Given the description of an element on the screen output the (x, y) to click on. 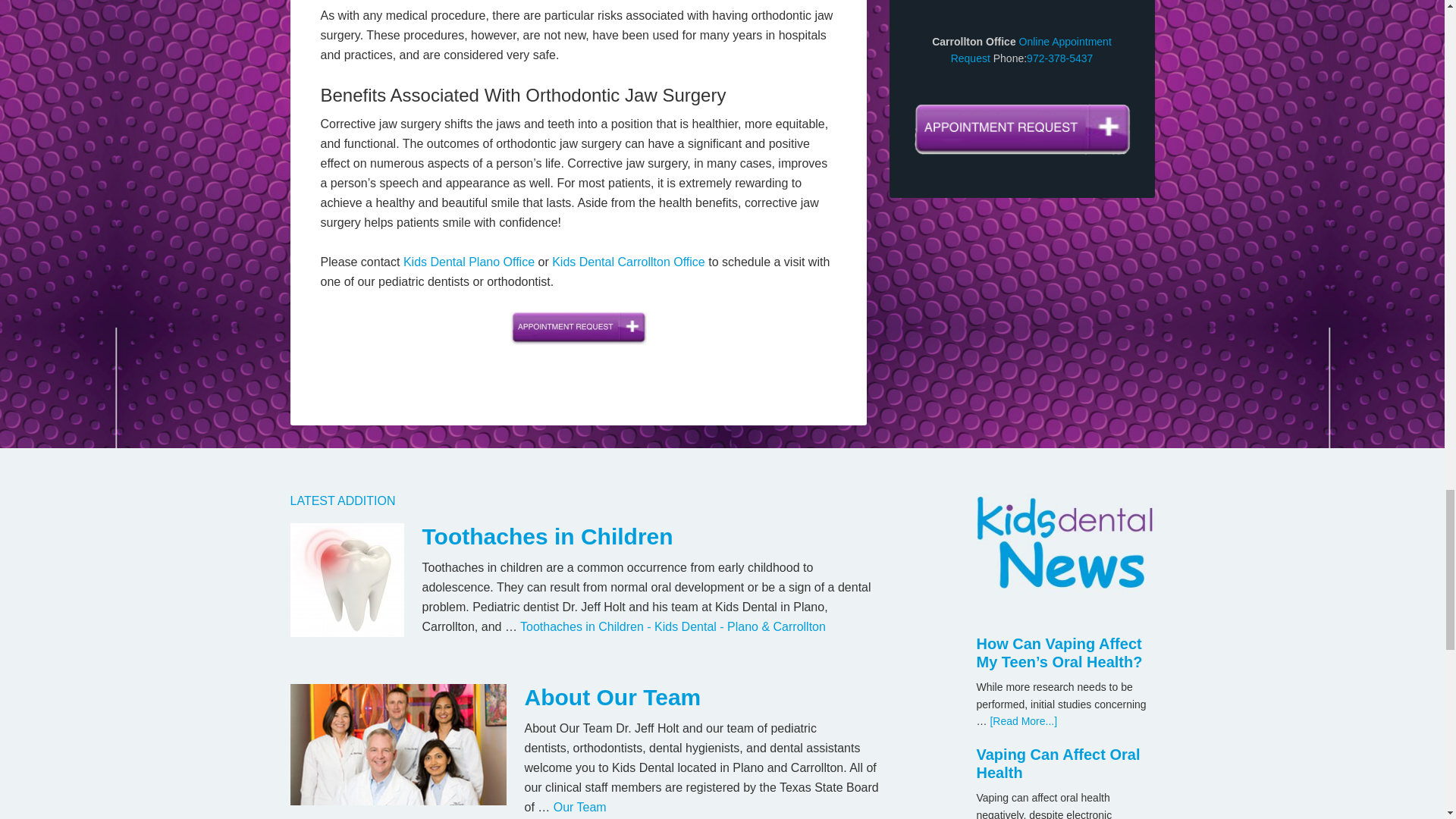
Kids Dental Locations Appointment Request (577, 328)
